Given the description of an element on the screen output the (x, y) to click on. 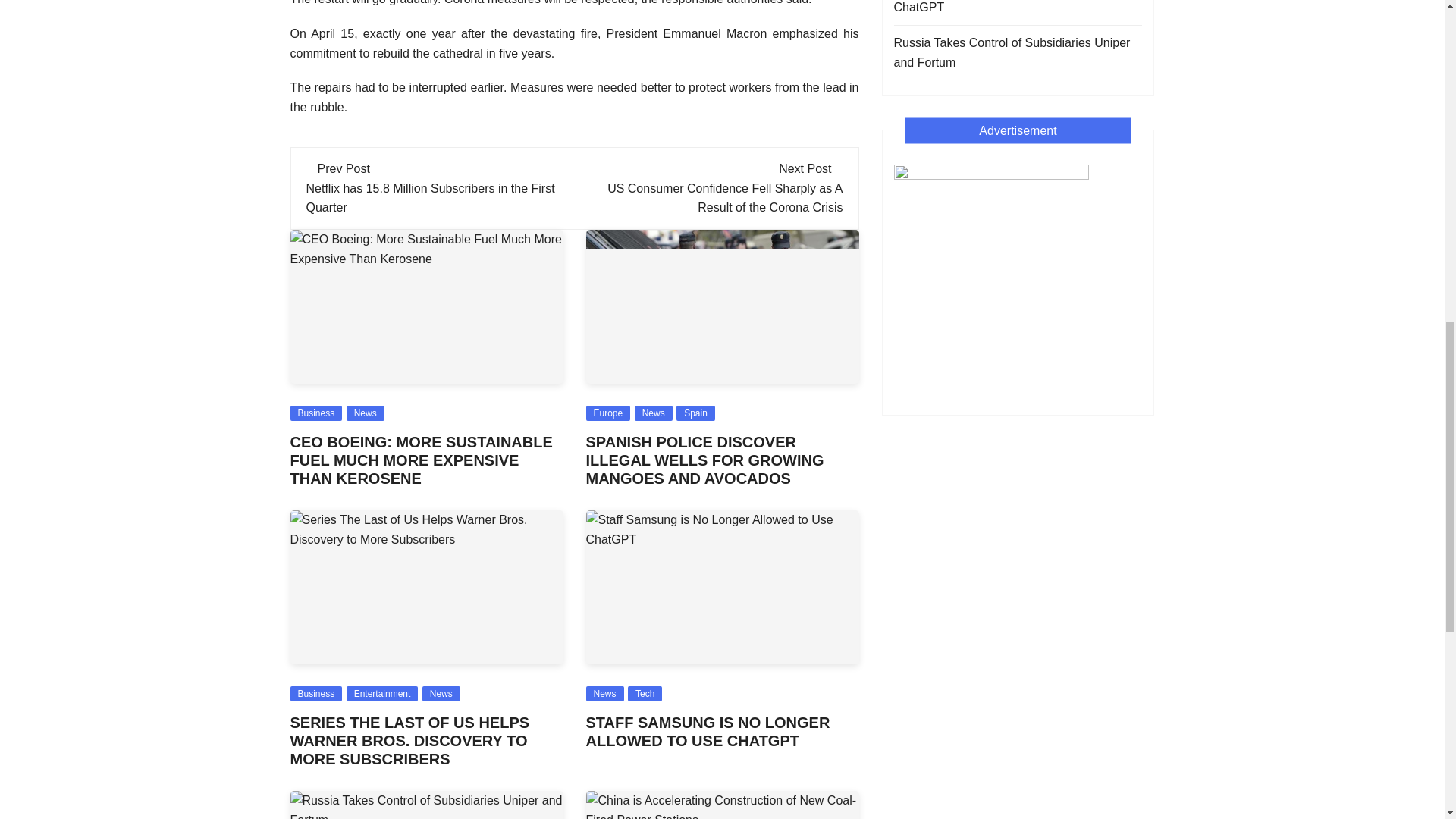
Business (315, 693)
Netflix has 15.8 Million Subscribers in the First Quarter (429, 197)
Business (315, 412)
News (441, 693)
Spain (695, 412)
News (365, 412)
Europe (607, 412)
